Given the description of an element on the screen output the (x, y) to click on. 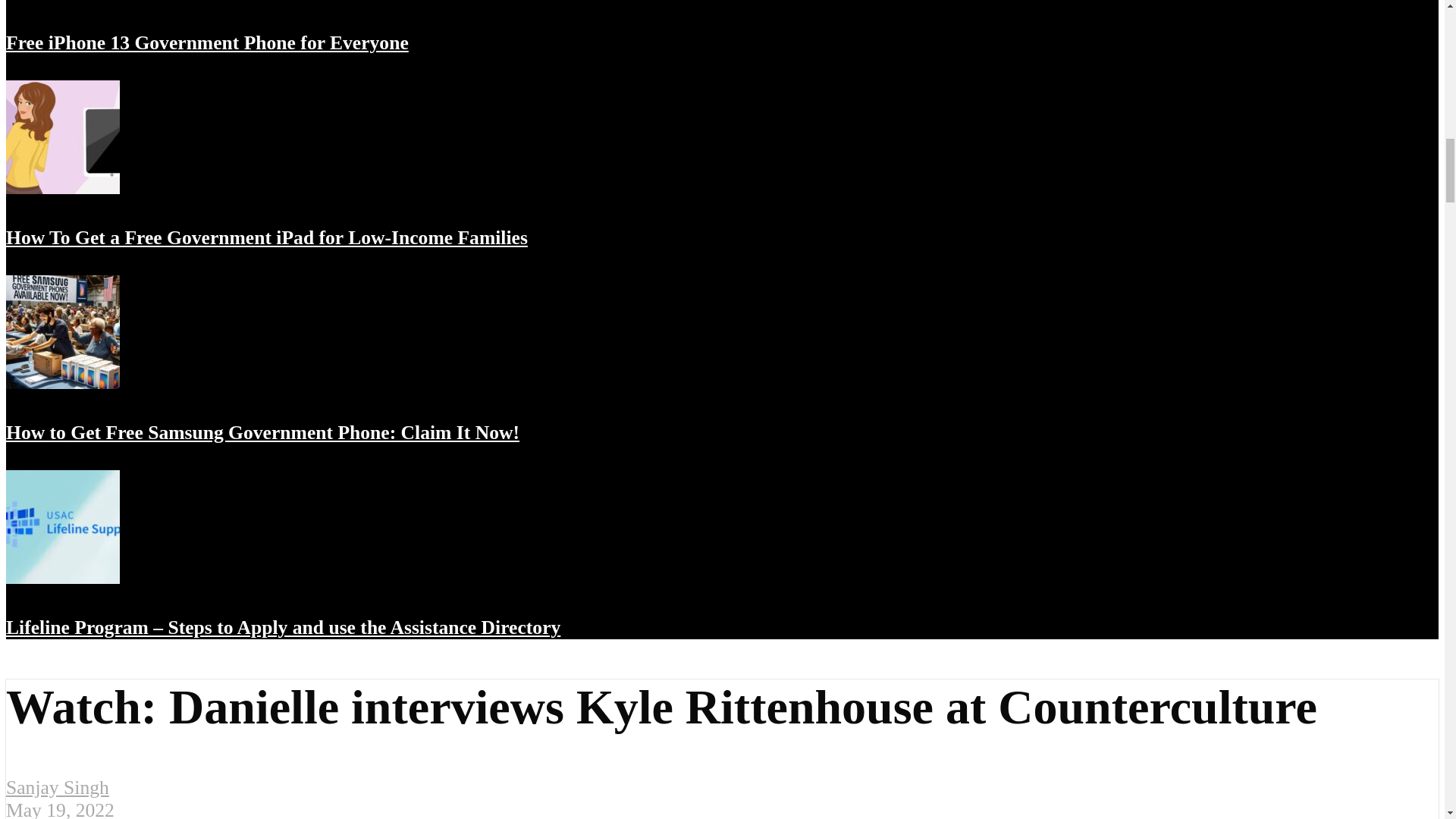
How To Get a Free Government iPad for Low-Income Families (62, 184)
How to Get Free Samsung Government Phone: Claim It Now! (62, 379)
Free iPhone 13 Government Phone for Everyone (62, 2)
